Given the description of an element on the screen output the (x, y) to click on. 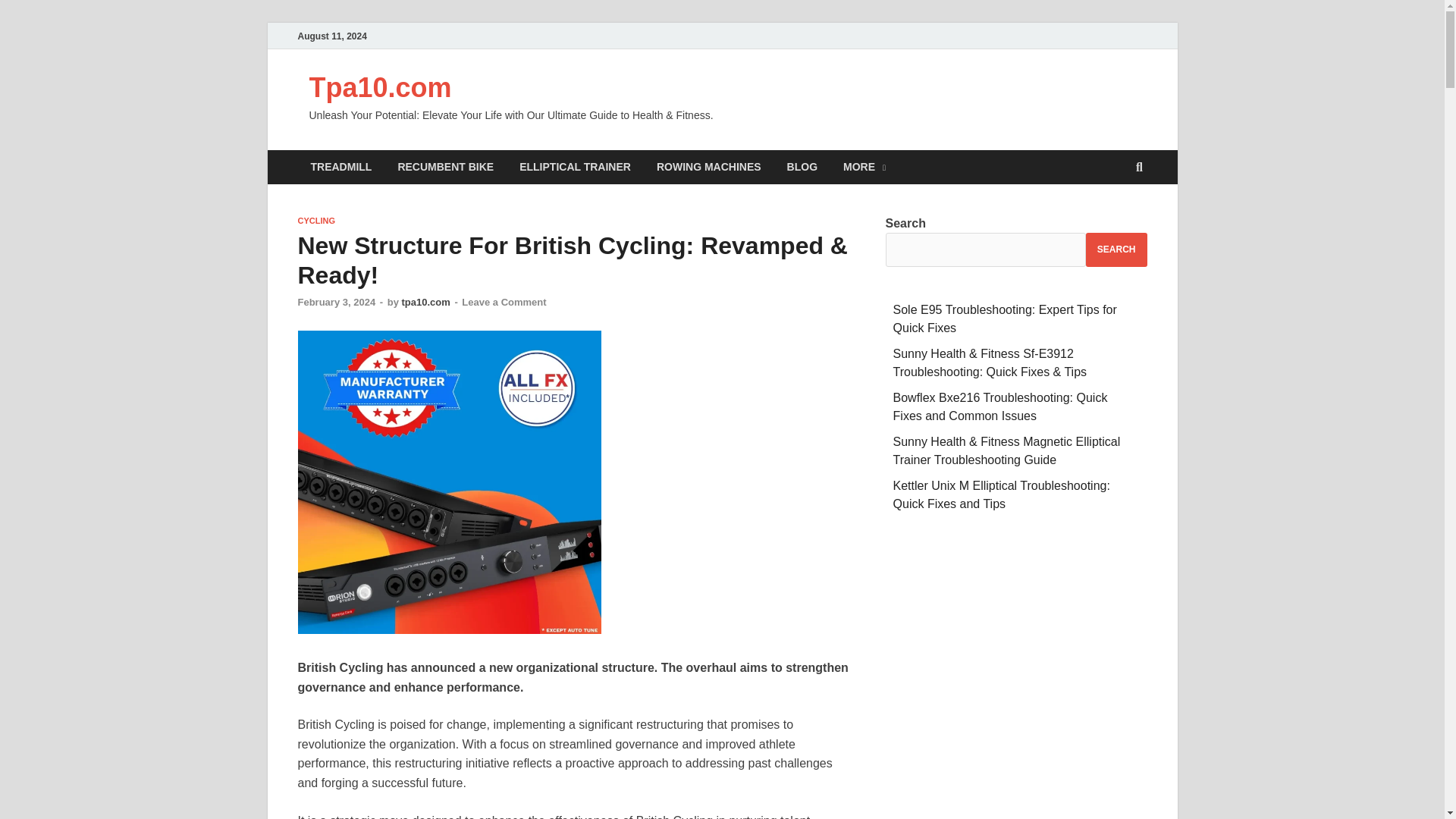
ROWING MACHINES (708, 166)
RECUMBENT BIKE (445, 166)
MORE (863, 166)
TREADMILL (340, 166)
Tpa10.com (379, 87)
ELLIPTICAL TRAINER (574, 166)
BLOG (801, 166)
